Given the description of an element on the screen output the (x, y) to click on. 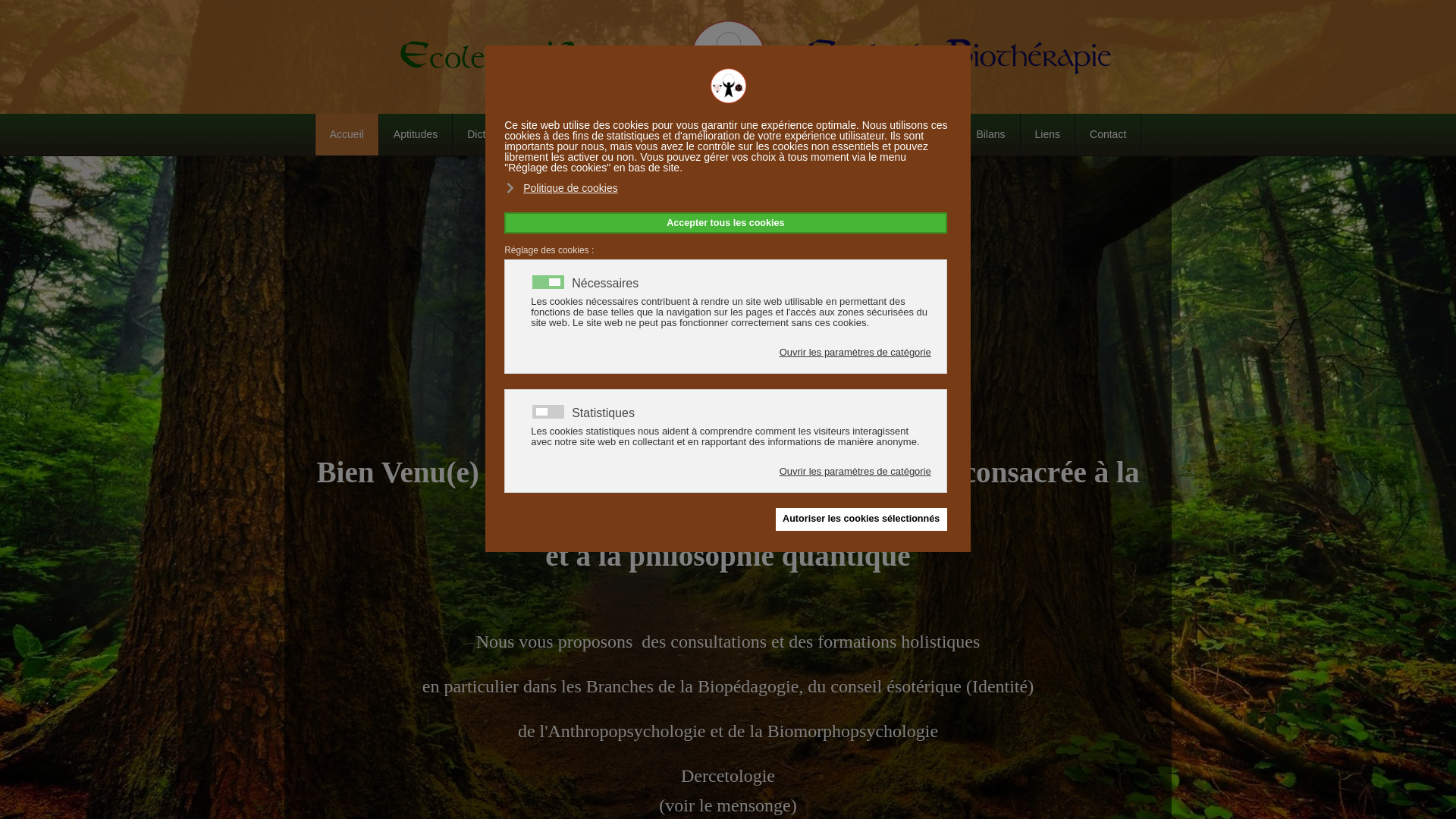
Bilans Element type: text (989, 134)
LUGA Element type: text (566, 134)
Dictionnaire Element type: text (494, 134)
Aptitudes Element type: text (414, 134)
Politique de cookies Element type: text (561, 187)
Calendrier Celte Element type: text (850, 134)
AVEA Element type: text (931, 134)
Contact Element type: text (1107, 134)
Accepter tous les cookies Element type: text (725, 222)
Ecole Element type: text (705, 134)
Statistiques Element type: text (605, 411)
Accueil Element type: text (346, 134)
Liens Element type: text (1046, 134)
Articles Element type: text (765, 134)
Mythologie Element type: text (636, 134)
